Given the description of an element on the screen output the (x, y) to click on. 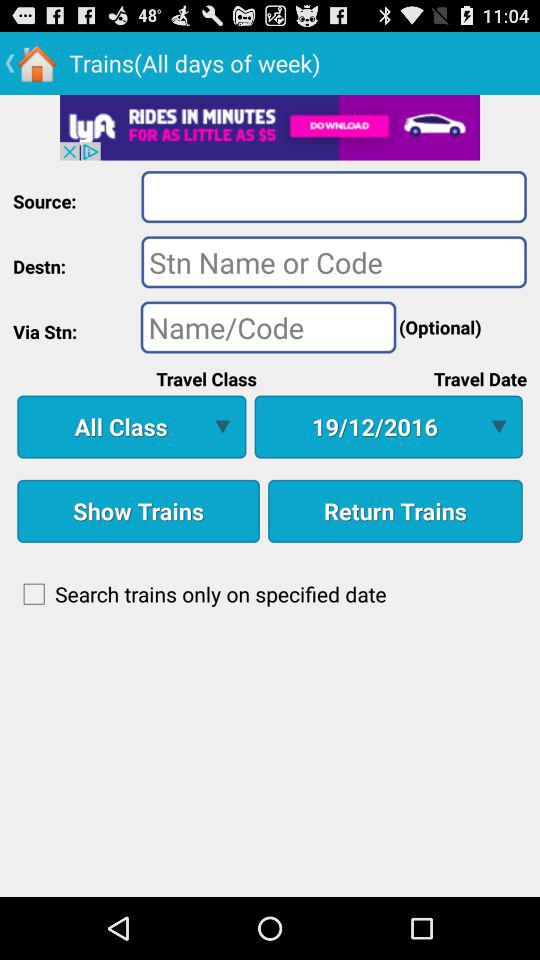
advertisement the article (270, 127)
